Given the description of an element on the screen output the (x, y) to click on. 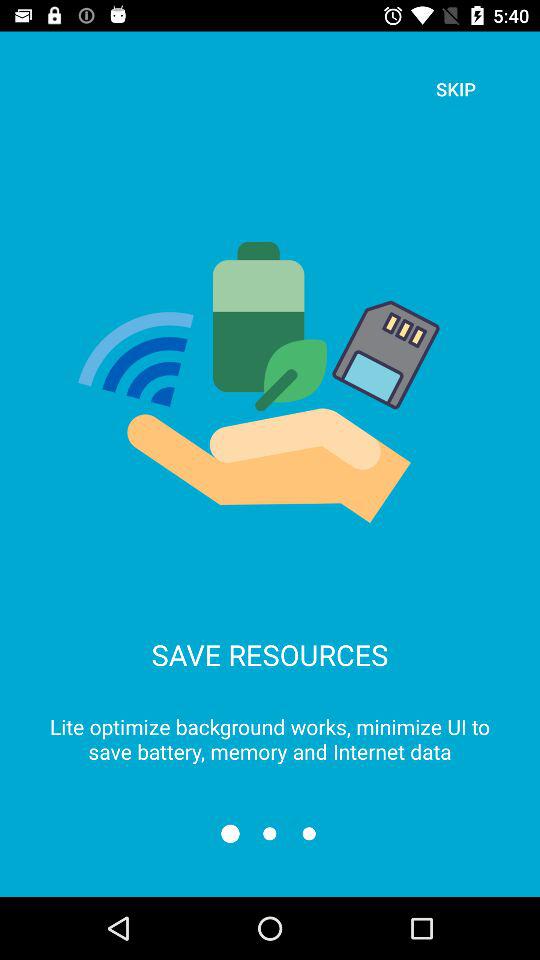
go to next slide (269, 833)
